Given the description of an element on the screen output the (x, y) to click on. 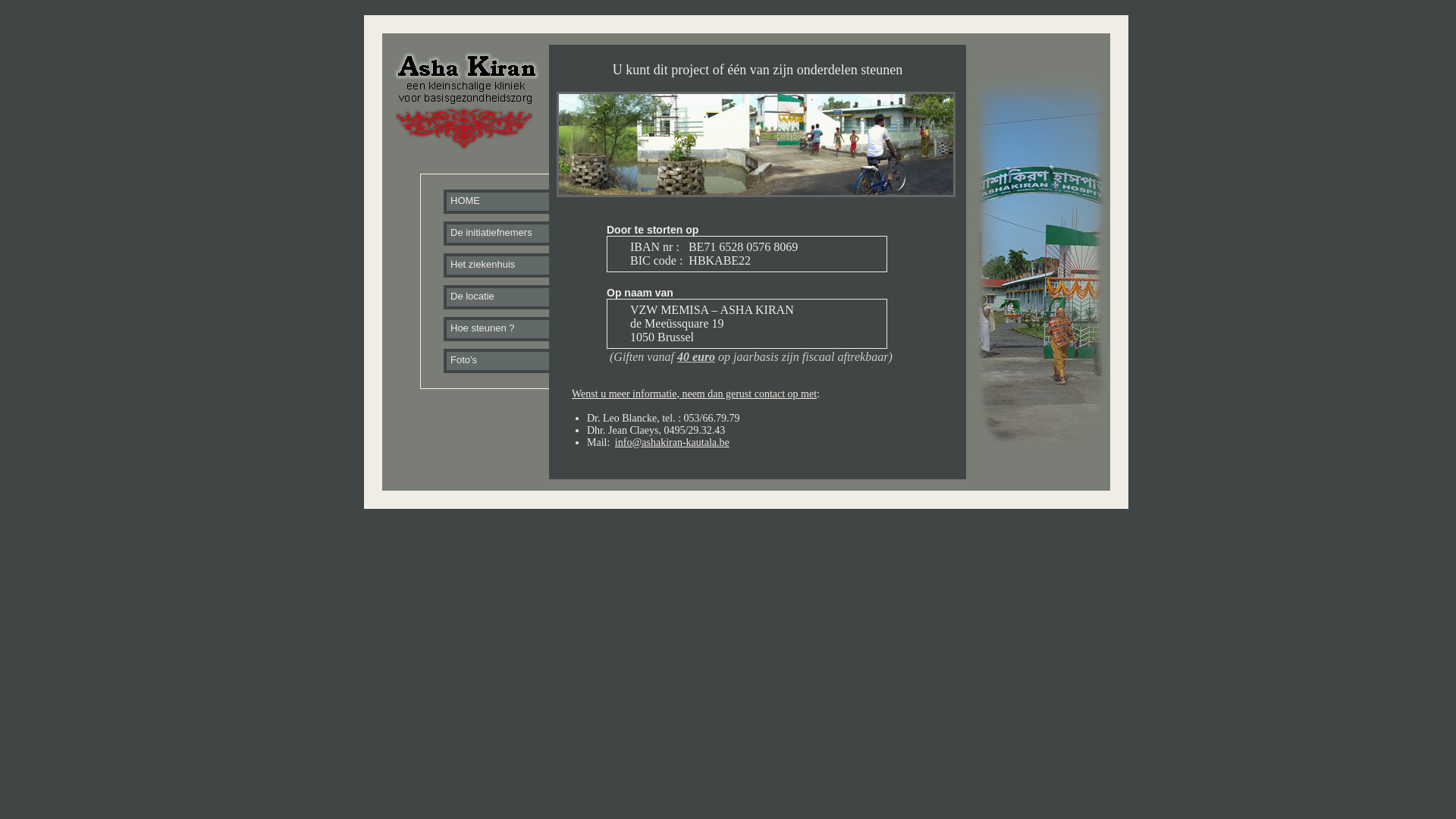
De initiatiefnemers Element type: text (507, 234)
Foto's Element type: text (507, 361)
De locatie Element type: text (507, 298)
info@ashakiran-kautala.be Element type: text (671, 442)
Hoe steunen ? Element type: text (507, 330)
Het ziekenhuis Element type: text (507, 266)
HOME Element type: text (507, 202)
